Given the description of an element on the screen output the (x, y) to click on. 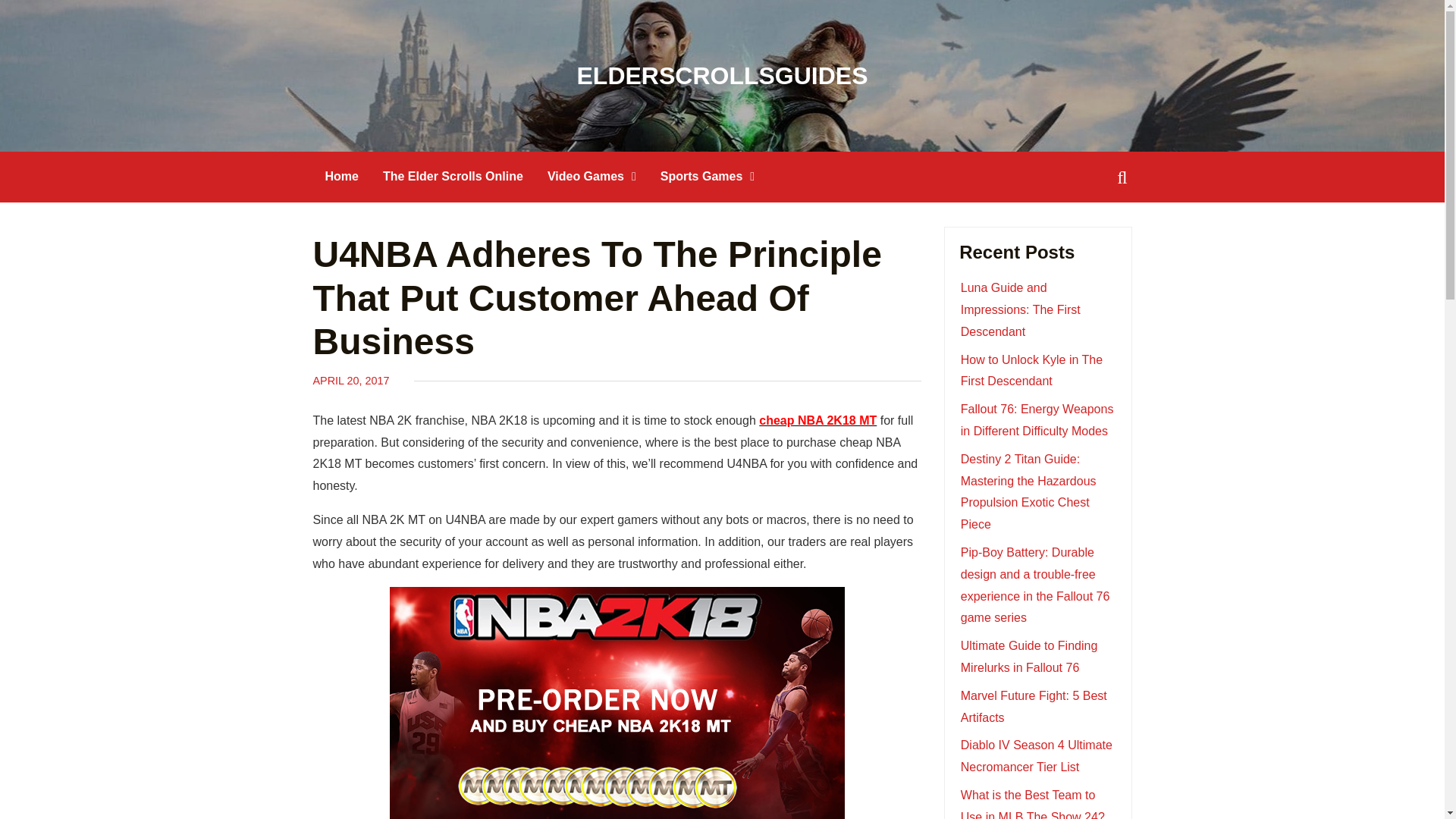
The Elder Scrolls Online (453, 176)
Search (39, 13)
ELDERSCROLLSGUIDES (721, 75)
APRIL 20, 2017 (350, 380)
cheap NBA 2K18 MT (817, 420)
Sports Games (707, 176)
Home (341, 176)
Video Games (591, 176)
